Given the description of an element on the screen output the (x, y) to click on. 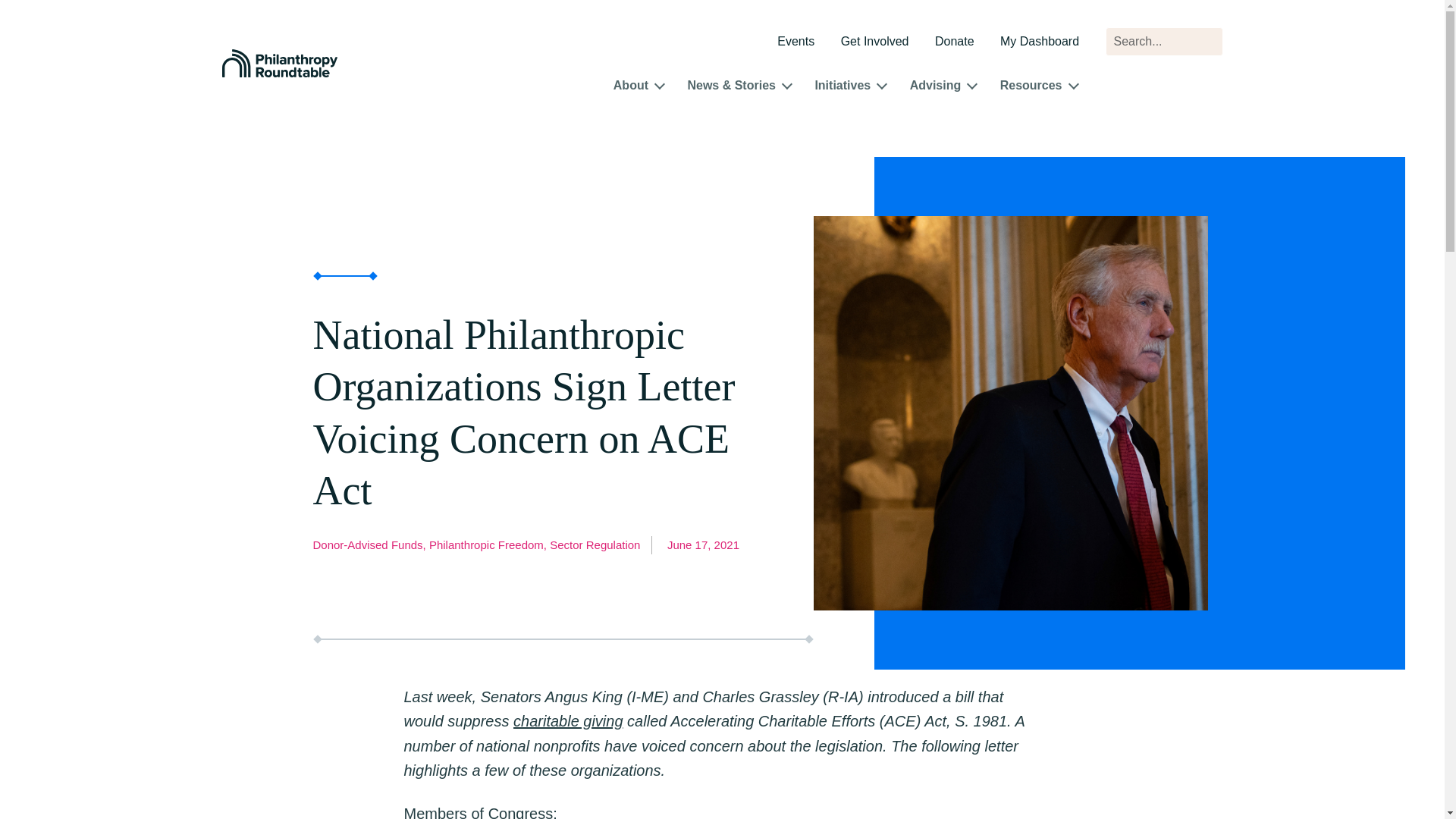
Donate (954, 41)
Philanthropic Freedom (489, 544)
Initiatives (841, 87)
My Dashboard (1039, 41)
About (629, 87)
Advising (935, 87)
charitable giving (568, 720)
Get Involved (874, 41)
Donor-Advised Funds (370, 544)
Resources (1031, 87)
Sector Regulation (595, 544)
Events (795, 41)
